Given the description of an element on the screen output the (x, y) to click on. 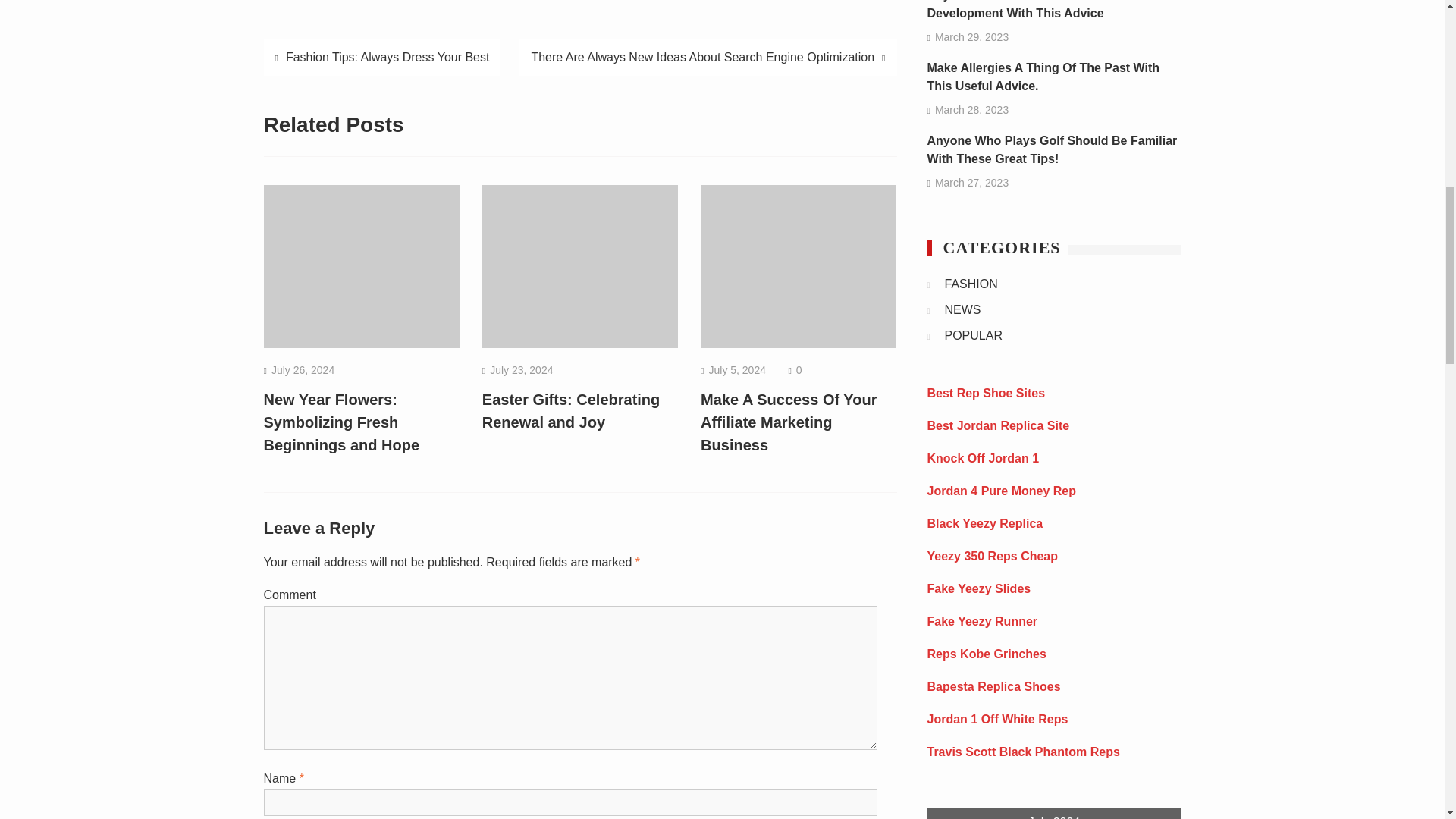
Make A Success Of Your Affiliate Marketing Business (788, 422)
New Year Flowers: Symbolizing Fresh Beginnings and Hope (341, 422)
Fashion Tips: Always Dress Your Best (381, 57)
Easter Gifts: Celebrating Renewal and Joy (571, 410)
0 (799, 369)
There Are Always New Ideas About Search Engine Optimization (707, 57)
